Given the description of an element on the screen output the (x, y) to click on. 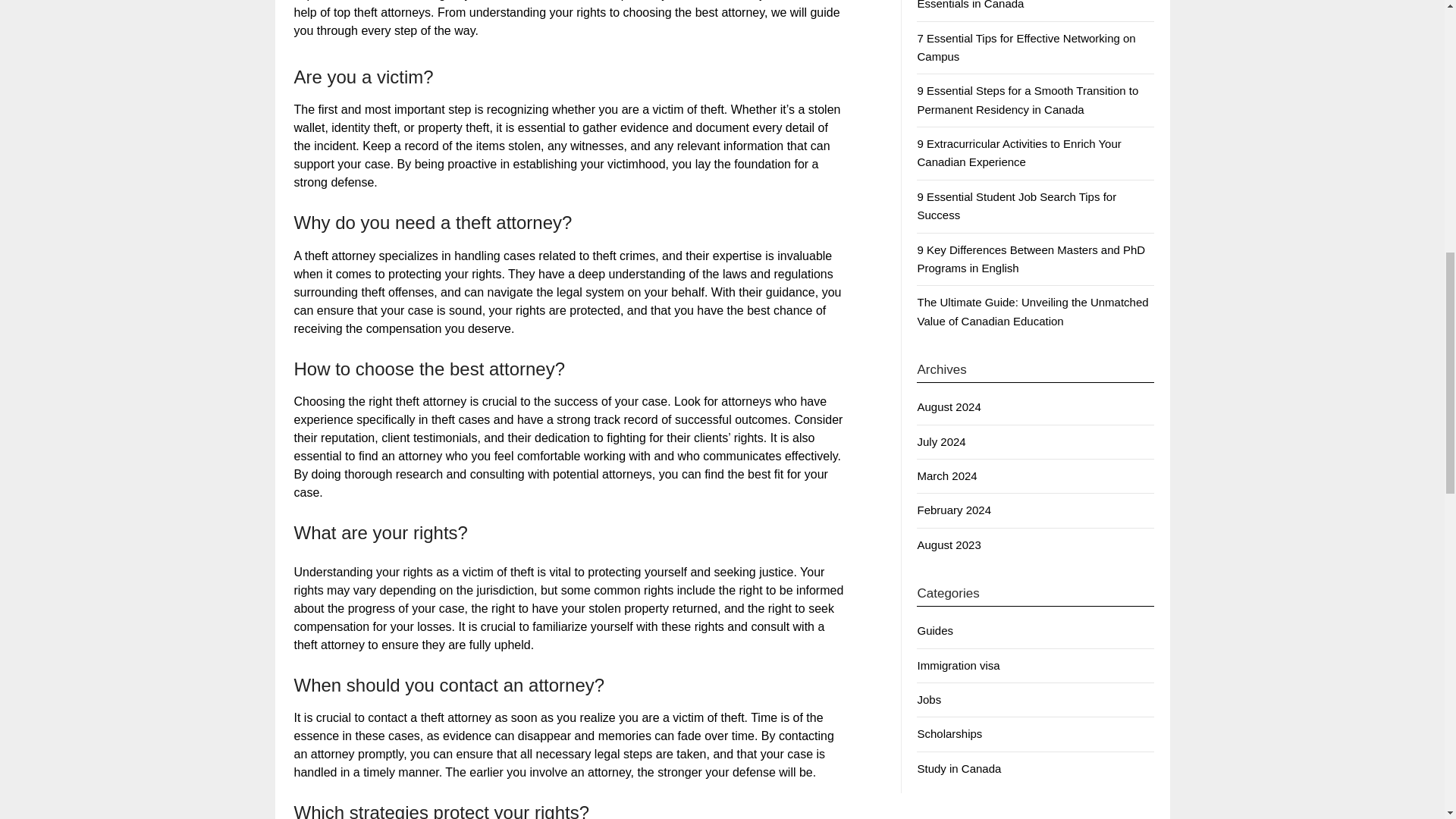
Immigration visa (957, 665)
Scholarships (949, 733)
March 2024 (946, 475)
Jobs (928, 698)
9 Essential Student Job Search Tips for Success (1016, 205)
7 Essential Tips for Effective Networking on Campus (1026, 47)
Guides (935, 630)
